Given the description of an element on the screen output the (x, y) to click on. 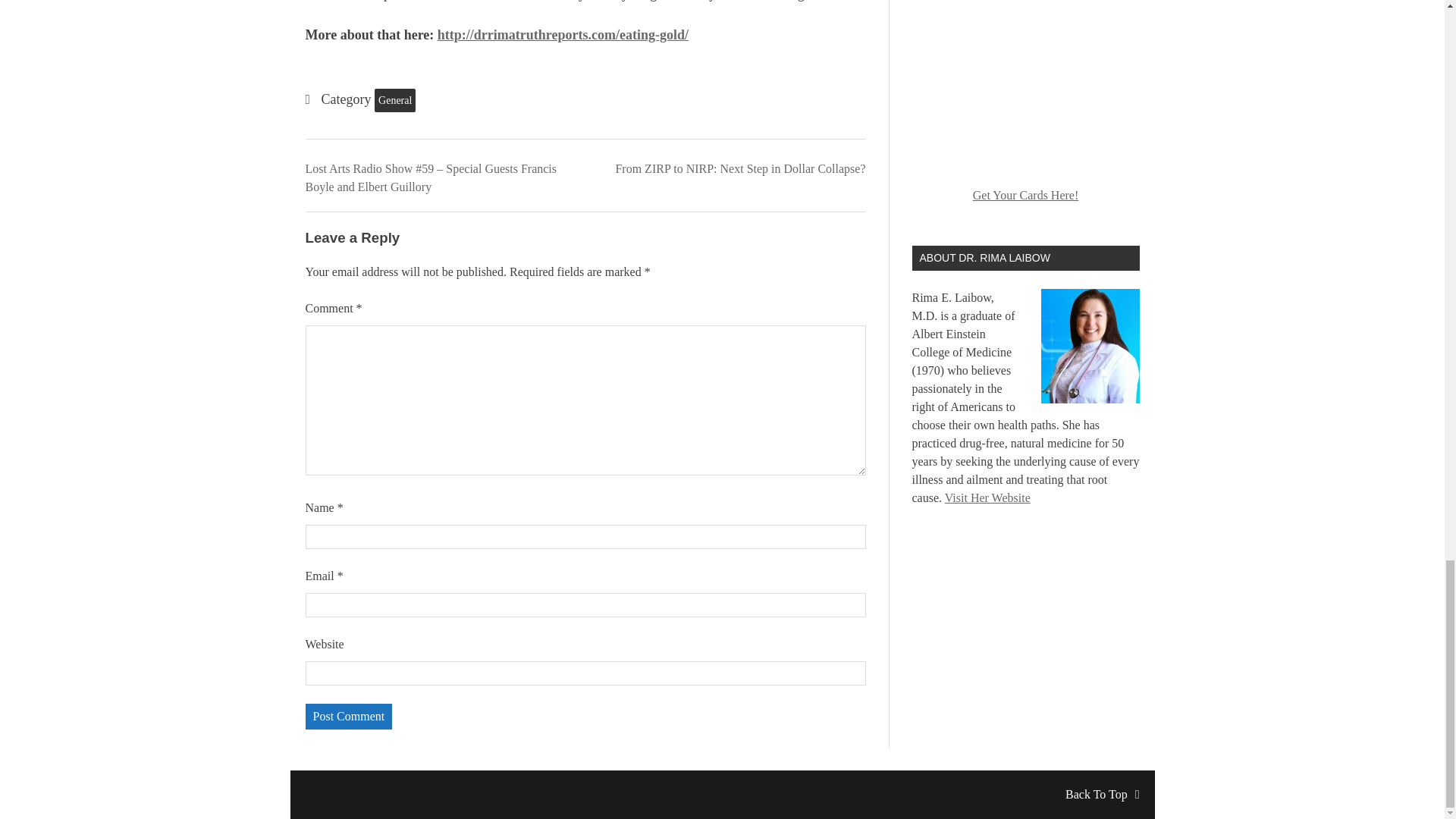
Back to top (1101, 793)
Post Comment (347, 716)
